Given the description of an element on the screen output the (x, y) to click on. 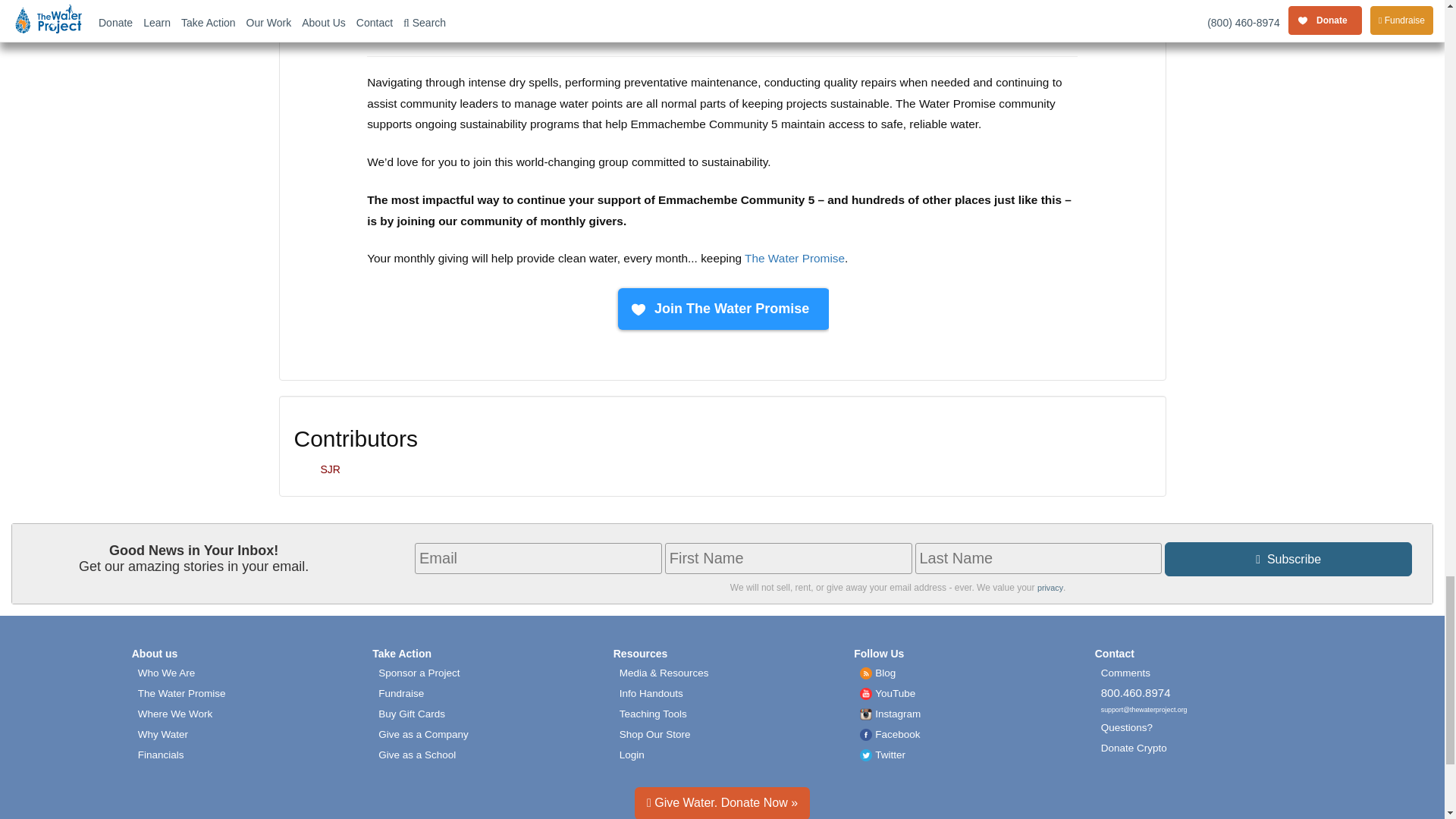
Donate Button (721, 309)
The Water Project logos and other brand assets (664, 672)
